Given the description of an element on the screen output the (x, y) to click on. 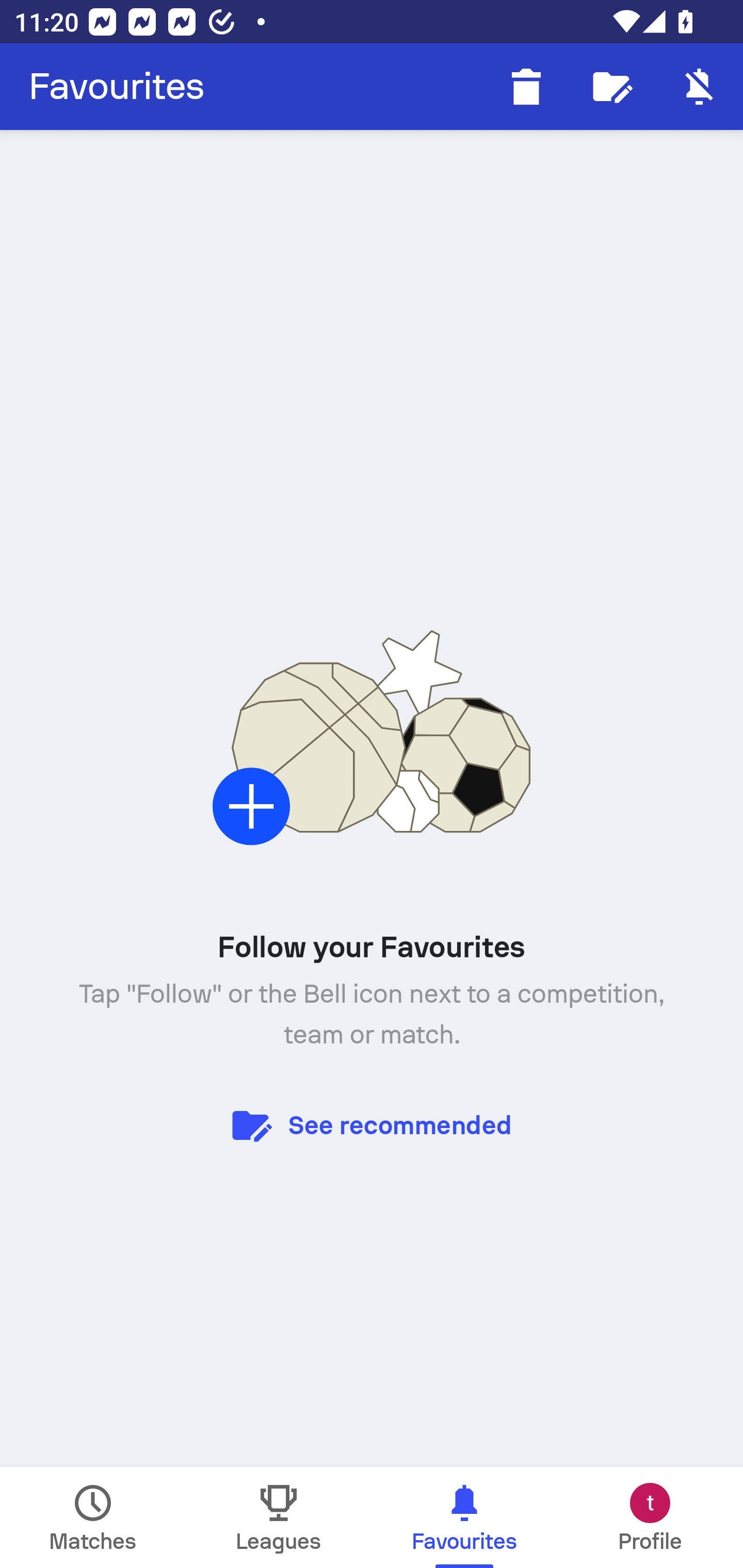
Favourites (116, 86)
Delete finished (525, 86)
Follow editor (612, 86)
Enable notifications (699, 86)
See recommended (371, 1124)
Matches (92, 1517)
Leagues (278, 1517)
Profile (650, 1517)
